Given the description of an element on the screen output the (x, y) to click on. 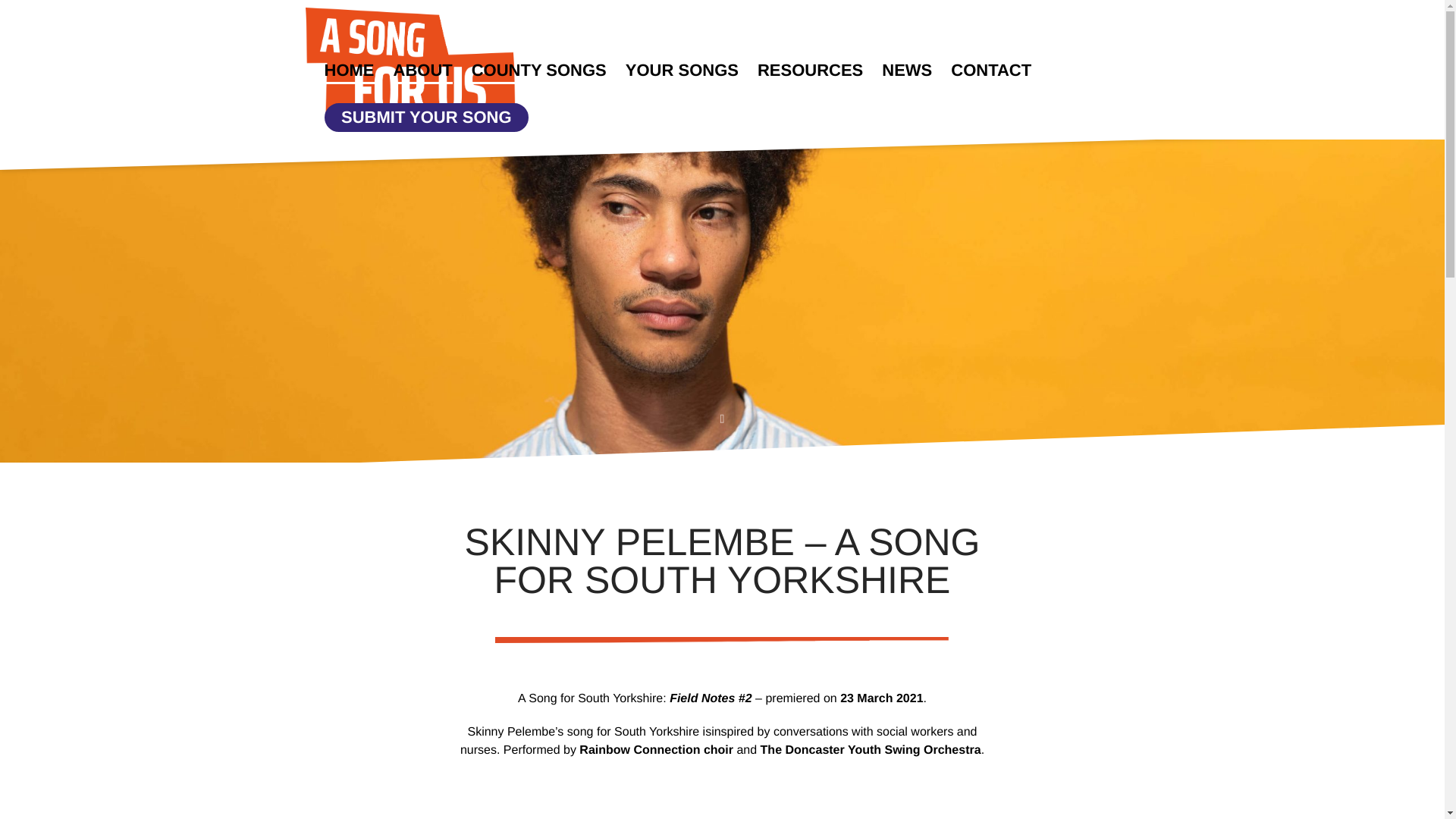
COUNTY SONGS (539, 71)
RESOURCES (810, 71)
SUBMIT YOUR SONG (426, 117)
NEWS (906, 71)
YouTube video player (722, 796)
YOUR SONGS (682, 71)
ABOUT (422, 71)
CONTACT (990, 71)
HOME (349, 71)
